Given the description of an element on the screen output the (x, y) to click on. 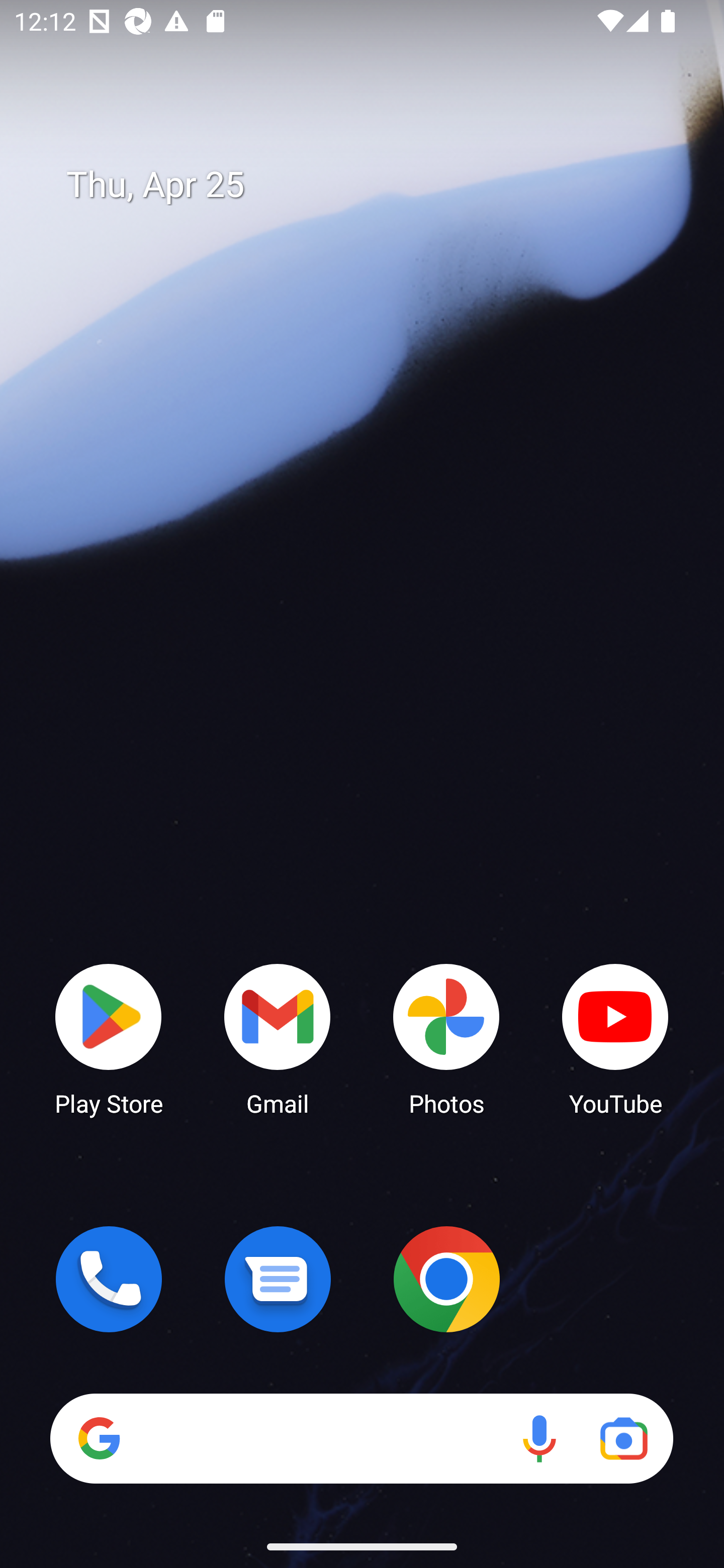
Thu, Apr 25 (375, 184)
Play Store (108, 1038)
Gmail (277, 1038)
Photos (445, 1038)
YouTube (615, 1038)
Phone (108, 1279)
Messages (277, 1279)
Chrome (446, 1279)
Search Voice search Google Lens (361, 1438)
Voice search (539, 1438)
Google Lens (623, 1438)
